Given the description of an element on the screen output the (x, y) to click on. 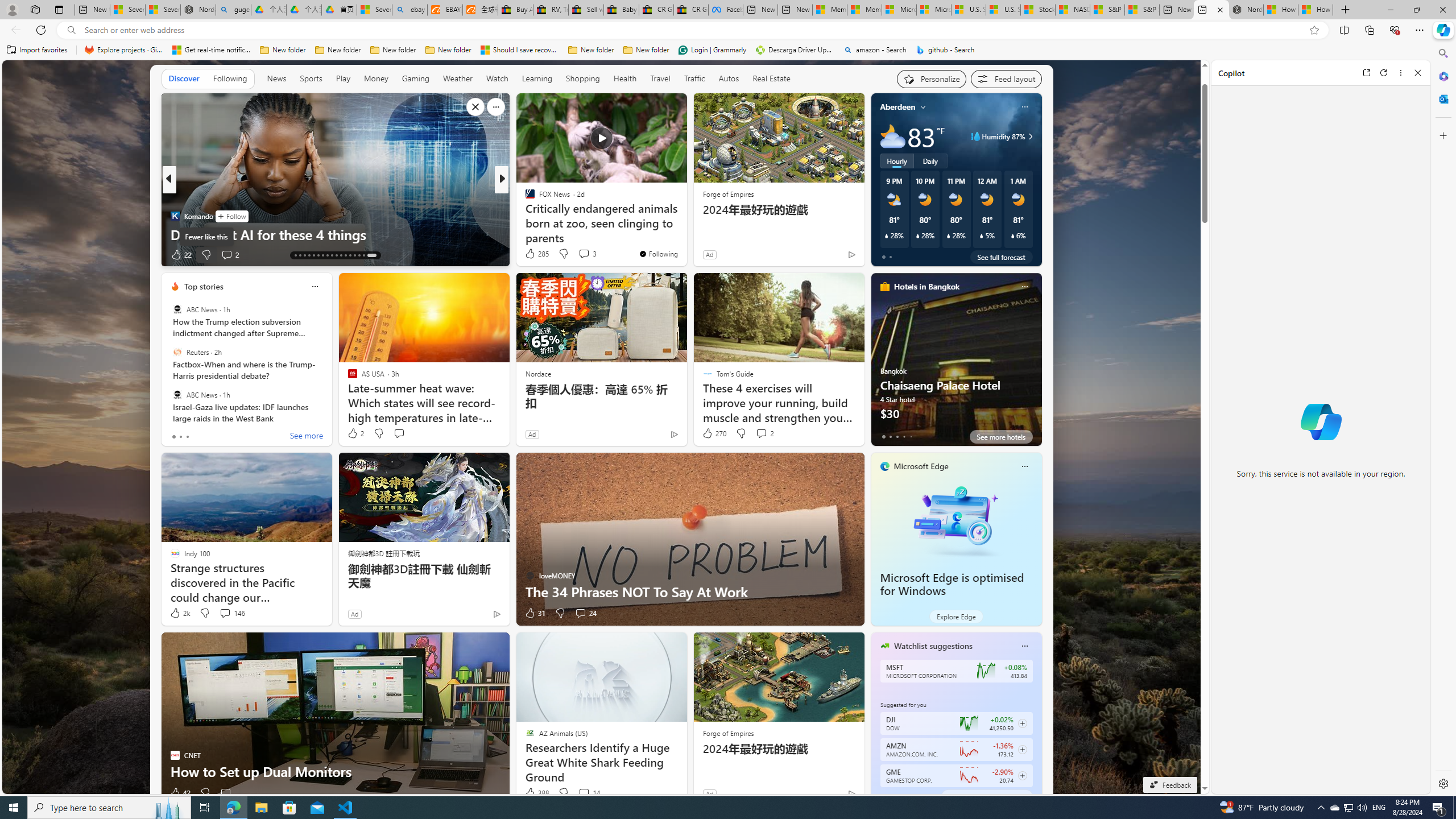
Feed settings (1005, 78)
285 Like (536, 253)
2k Like (179, 612)
See watchlist suggestions (986, 796)
Baby Keepsakes & Announcements for sale | eBay (620, 9)
View comments 3 Comment (587, 253)
388 Like (536, 792)
Humidity 87% (1028, 136)
AutomationID: tab-40 (358, 255)
Mostly cloudy (892, 136)
